Given the description of an element on the screen output the (x, y) to click on. 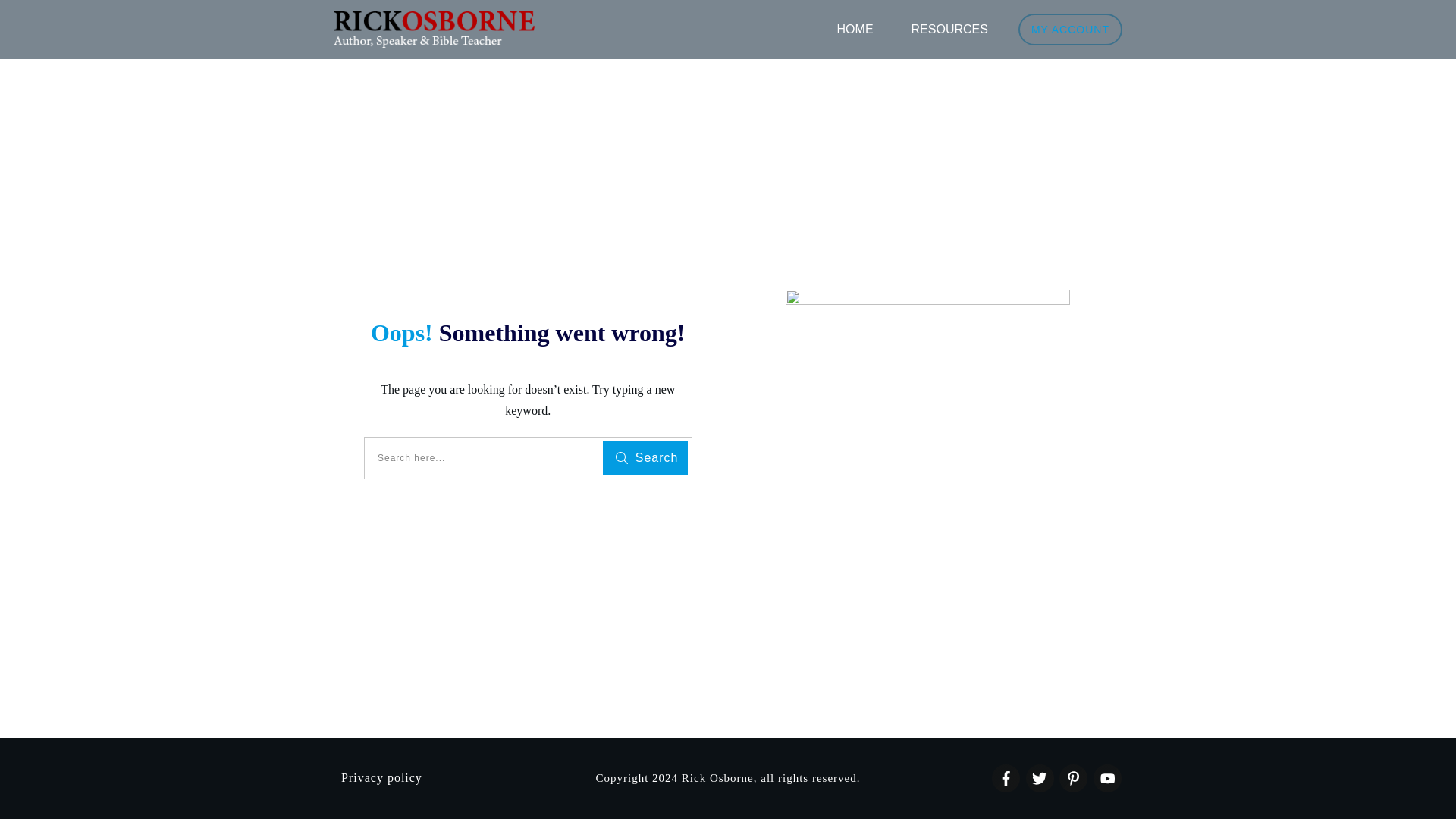
404 (928, 397)
HOME (855, 29)
Search (644, 458)
MY ACCOUNT (1069, 29)
RESOURCES (949, 29)
Privacy policy (381, 777)
